Given the description of an element on the screen output the (x, y) to click on. 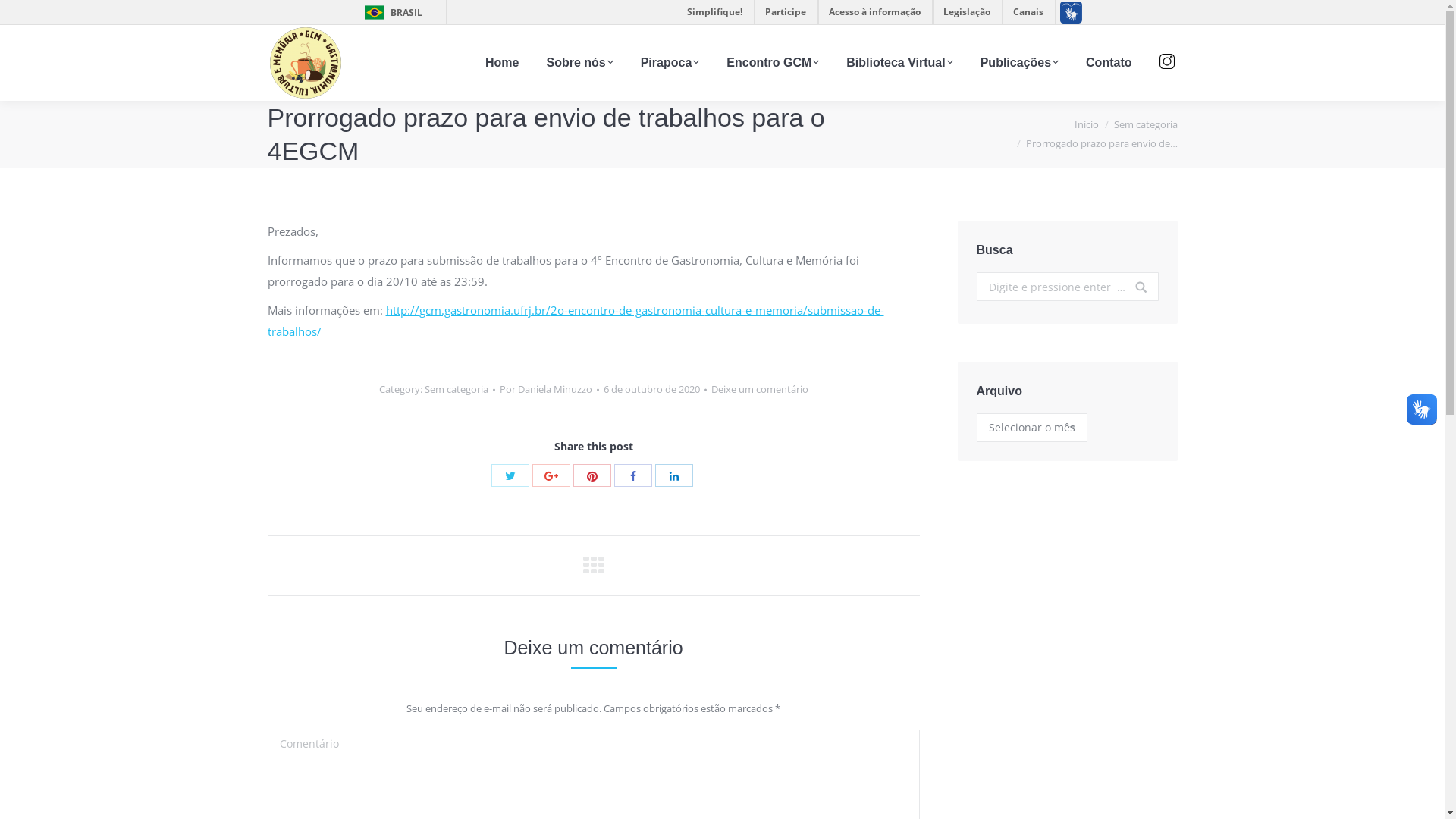
Encontro GCM Element type: text (772, 62)
Share with Pinterest Element type: text (592, 475)
Share with Facebook Element type: text (633, 475)
Share with LinkedIn Element type: text (674, 475)
Home Element type: text (501, 62)
Sem categoria Element type: text (456, 388)
Instagram Element type: hover (1165, 60)
Share with Google+ Element type: text (551, 475)
Contato Element type: text (1108, 62)
Sem categoria Element type: text (1144, 124)
Share with Twitter Element type: text (510, 475)
Go! Element type: text (1133, 295)
Por Daniela Minuzzo Element type: text (548, 388)
6 de outubro de 2020 Element type: text (654, 388)
Biblioteca Virtual Element type: text (899, 62)
Pirapoca Element type: text (669, 62)
BRASIL Element type: text (389, 12)
